Given the description of an element on the screen output the (x, y) to click on. 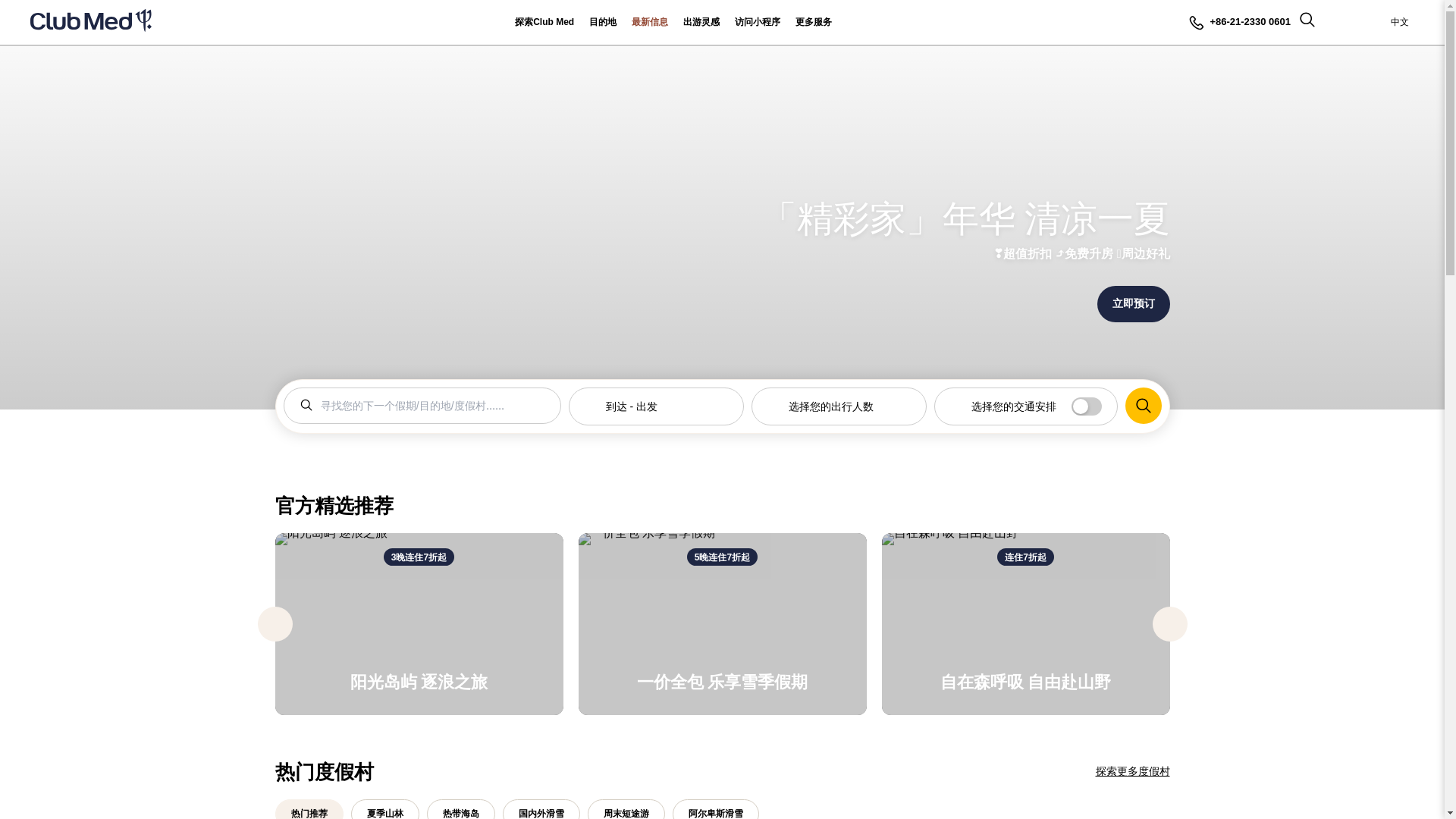
languages (1406, 22)
Club Med Homepage (90, 22)
Club Med Homepage (90, 22)
